Given the description of an element on the screen output the (x, y) to click on. 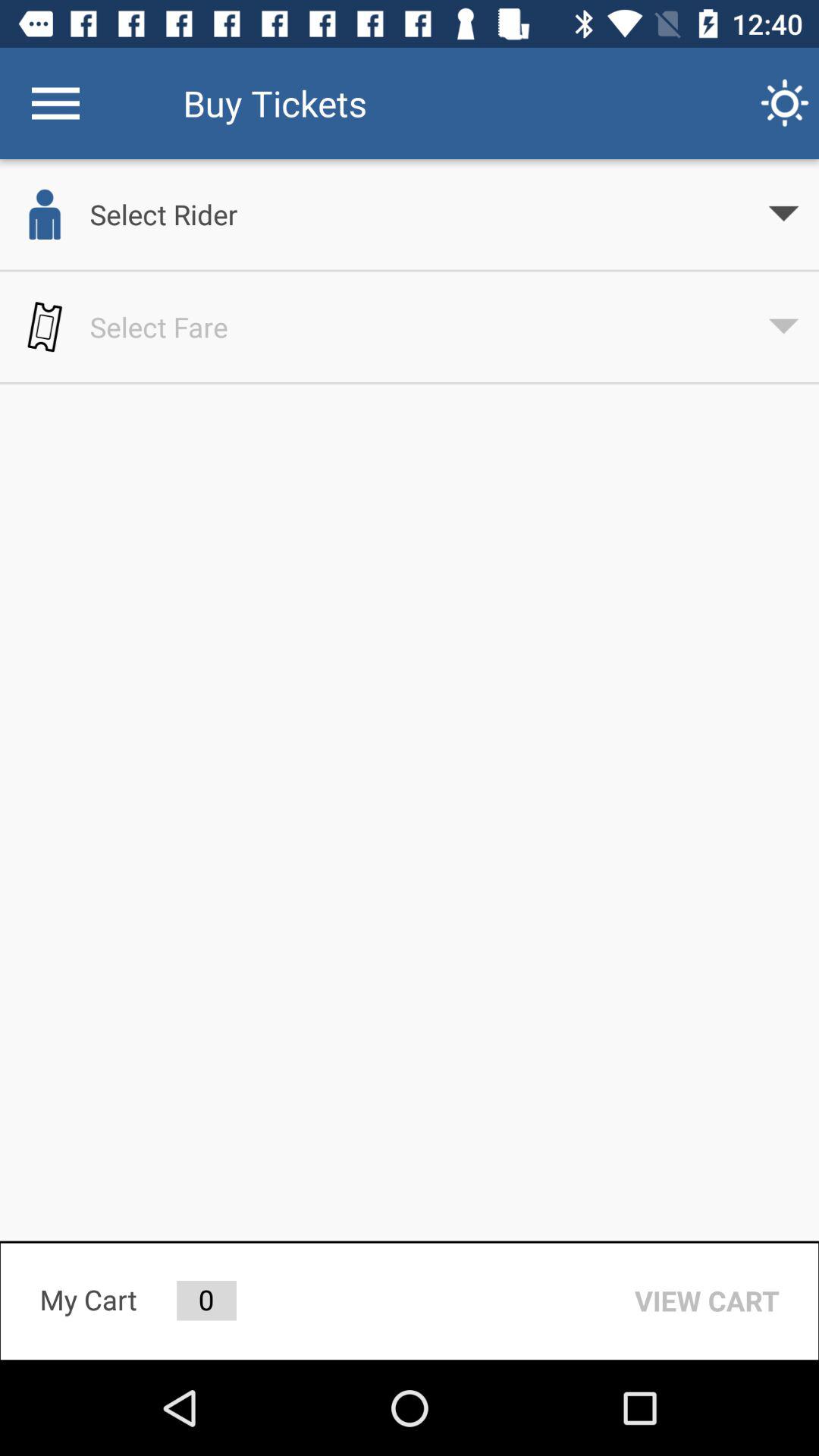
click the icon below select fare item (706, 1300)
